Given the description of an element on the screen output the (x, y) to click on. 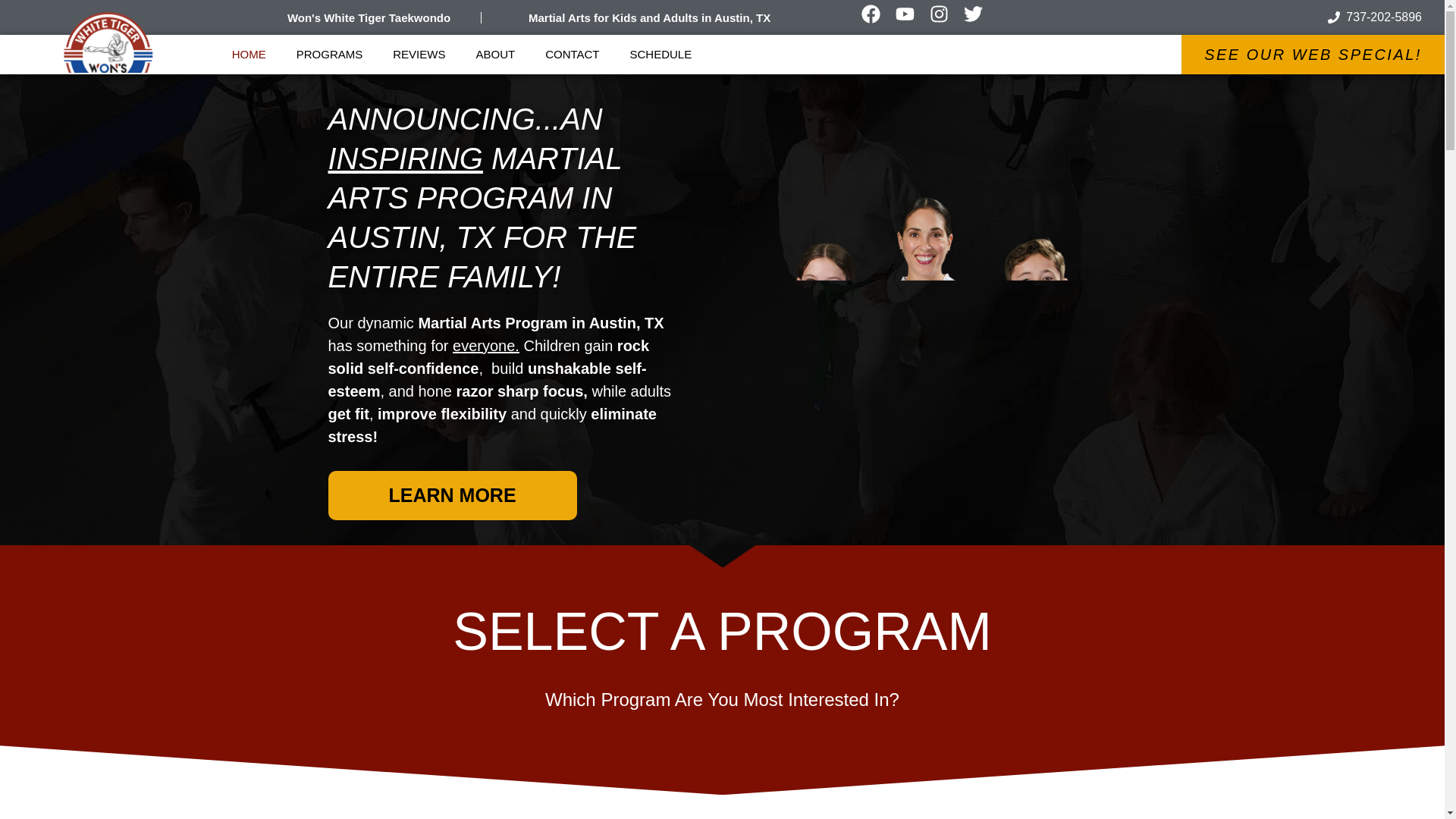
PROGRAMS (329, 54)
CONTACT (571, 54)
SCHEDULE (660, 54)
ABOUT (494, 54)
HOME (248, 54)
REVIEWS (418, 54)
Won's White Tiger Taekwondo (367, 16)
